Given the description of an element on the screen output the (x, y) to click on. 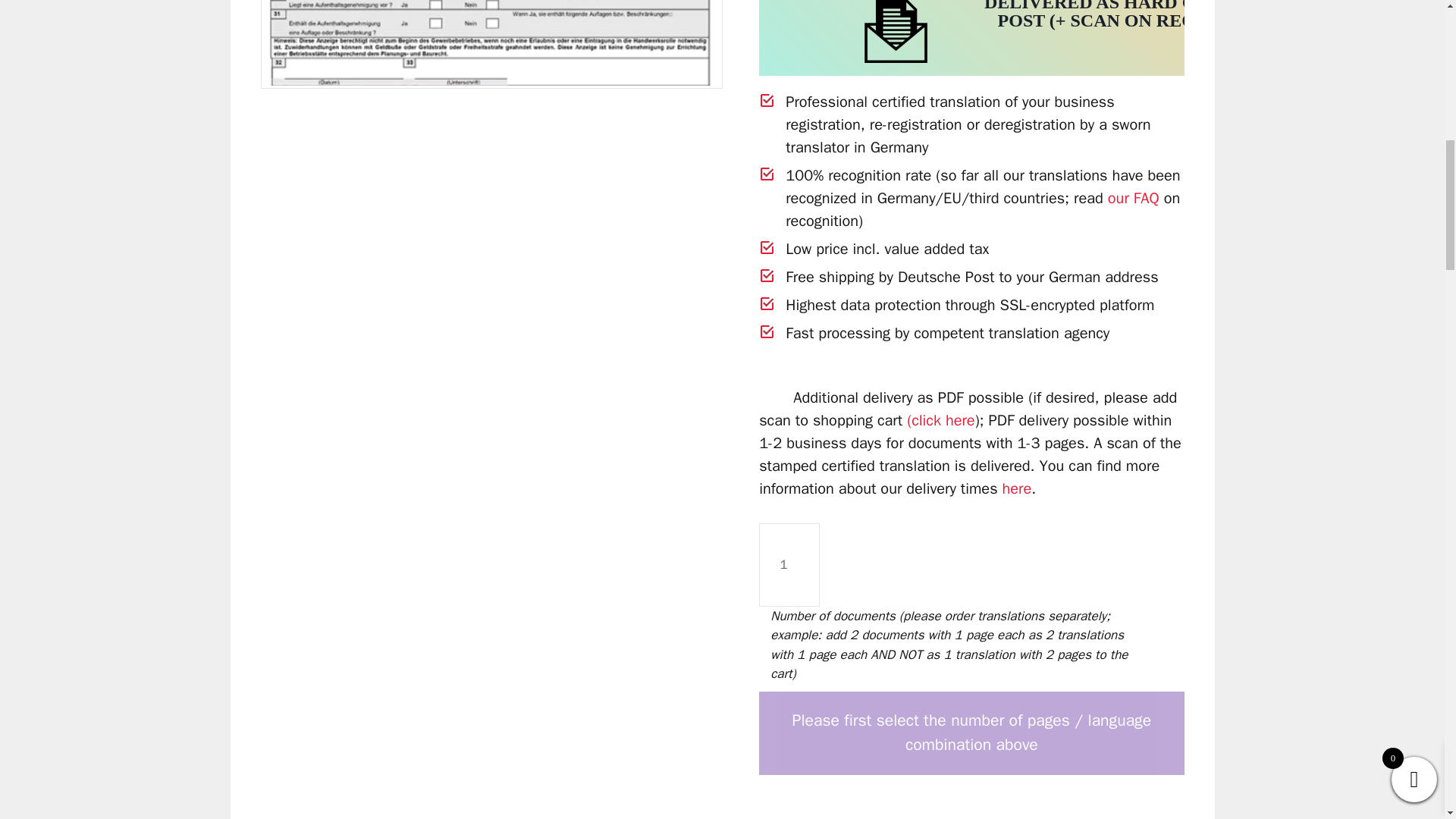
Scroll back to top (1414, 663)
